Given the description of an element on the screen output the (x, y) to click on. 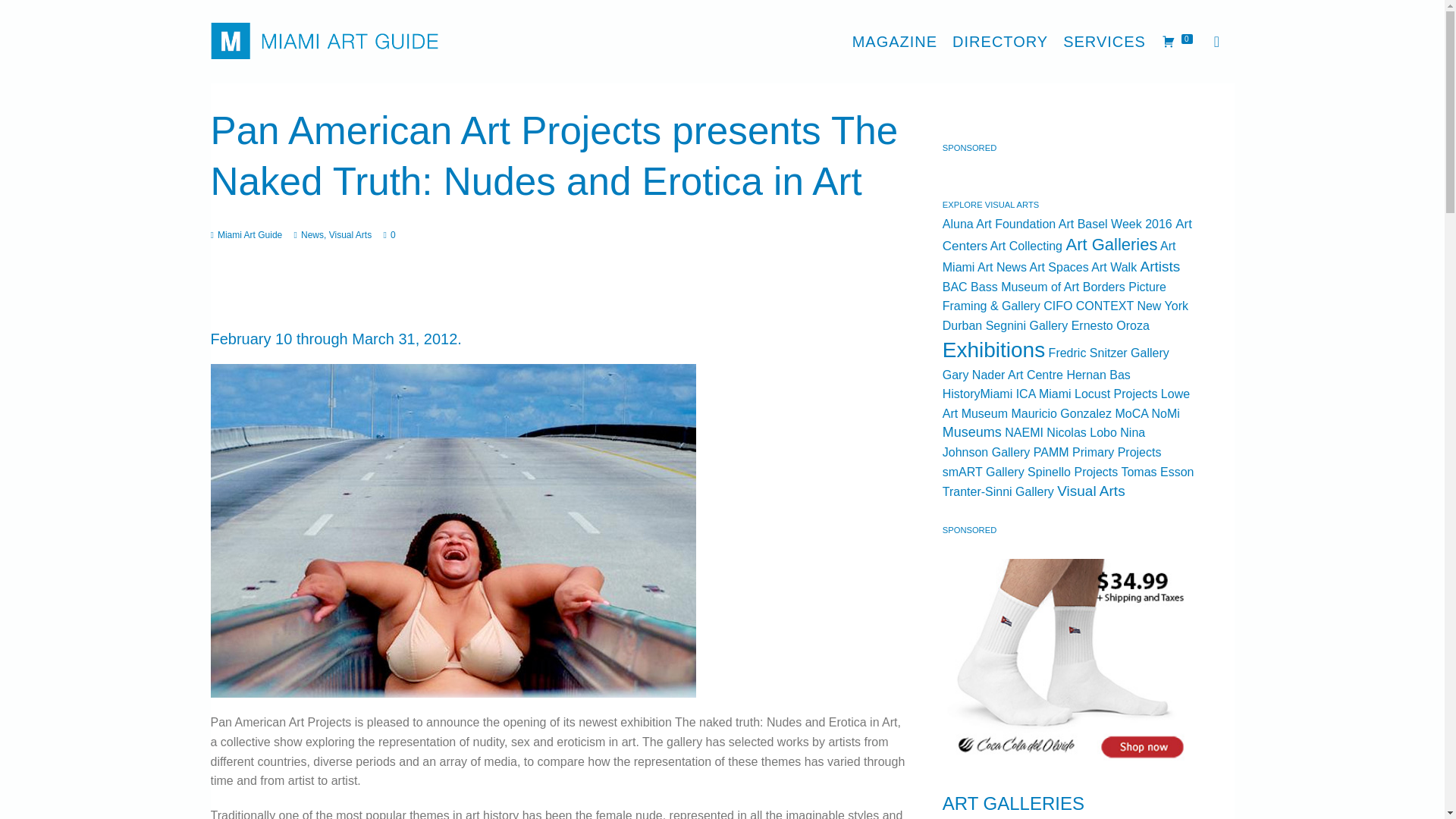
MAGAZINE (894, 41)
SERVICES (1104, 41)
DIRECTORY (1000, 41)
